Given the description of an element on the screen output the (x, y) to click on. 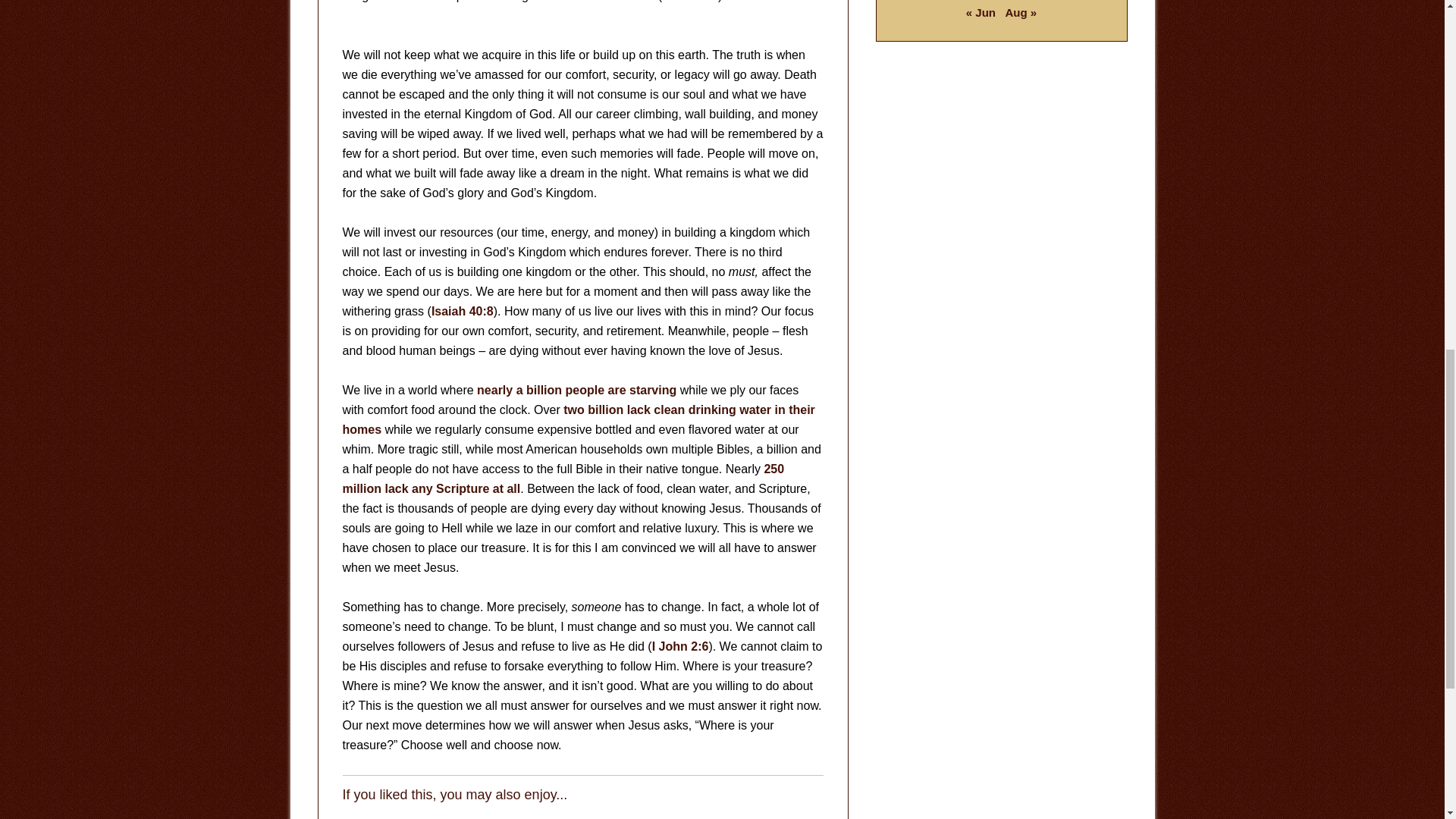
I John 2:6 (680, 645)
two billion lack clean drinking water in their homes (578, 419)
Isaiah 40:8 (461, 310)
250 million lack any Scripture at all (563, 478)
Luke 9:24 (689, 1)
nearly a billion people are starving (577, 390)
